Given the description of an element on the screen output the (x, y) to click on. 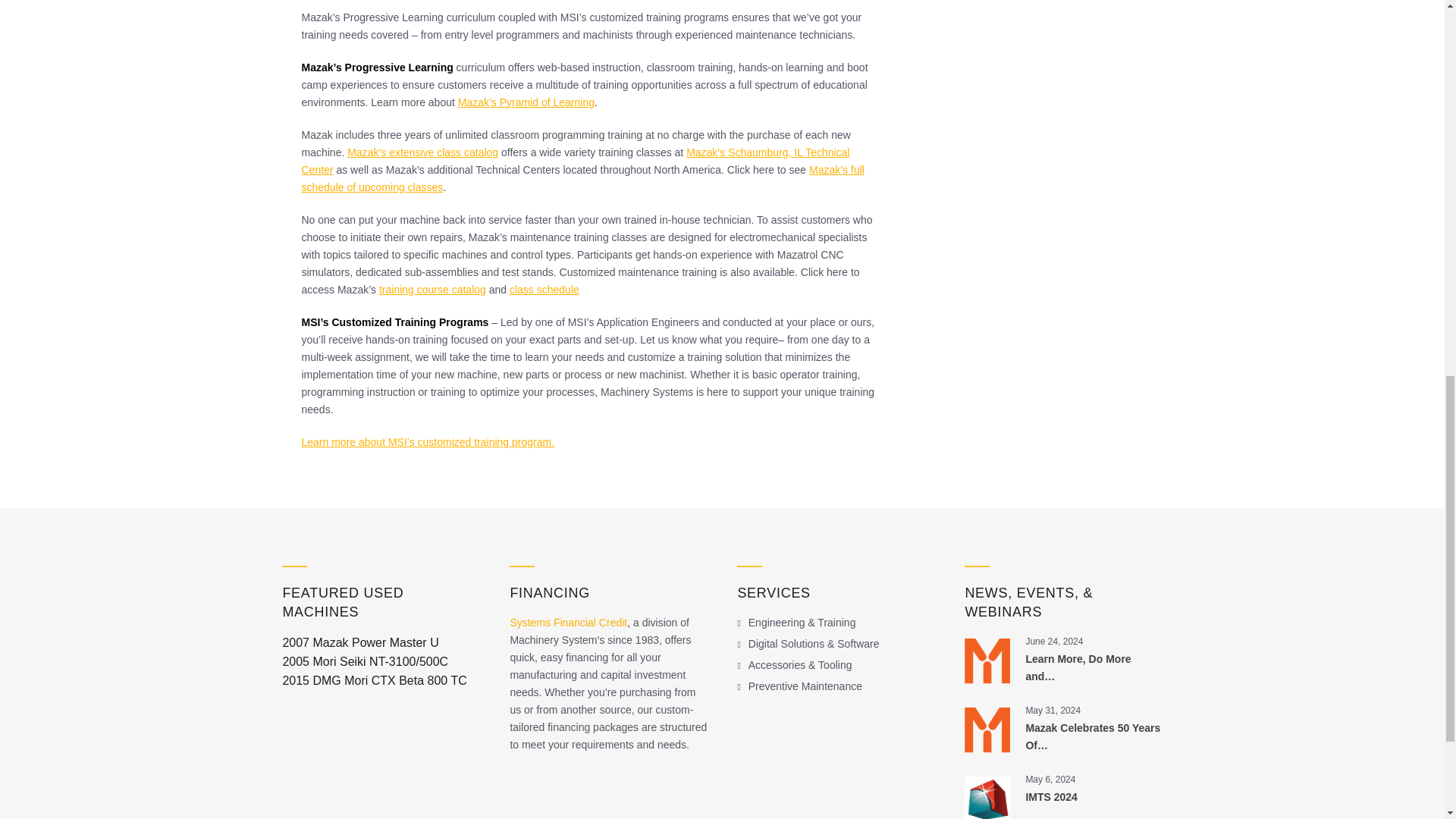
2007 Mazak Power Master U (360, 642)
IMTS 2024 (1051, 797)
2015 DMG Mori CTX Beta 800 TC (373, 680)
Learn More, Do More and Make More with Mazak at IMTS 2024 (1078, 667)
